Given the description of an element on the screen output the (x, y) to click on. 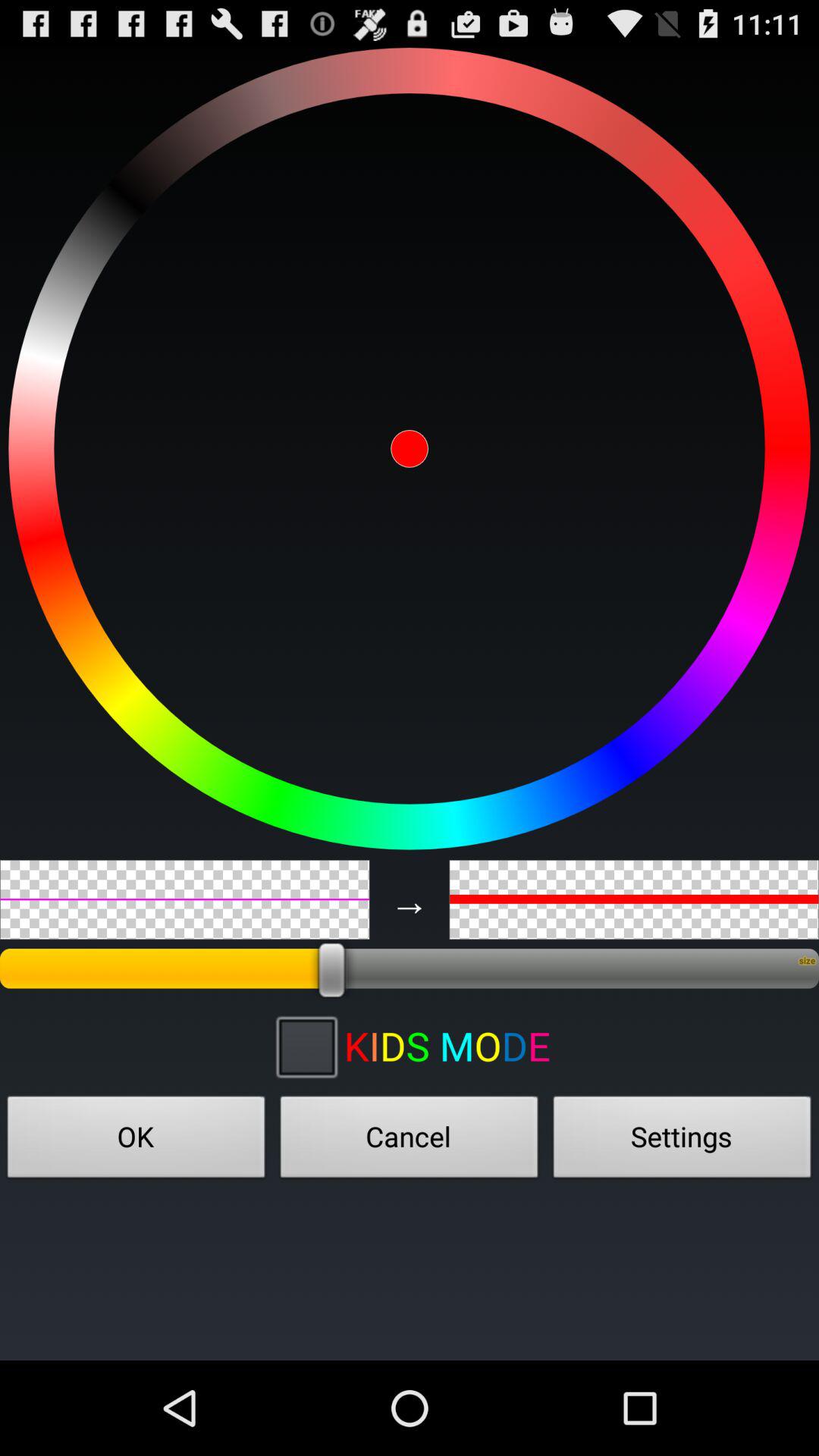
choose button to the right of ok icon (409, 1141)
